Given the description of an element on the screen output the (x, y) to click on. 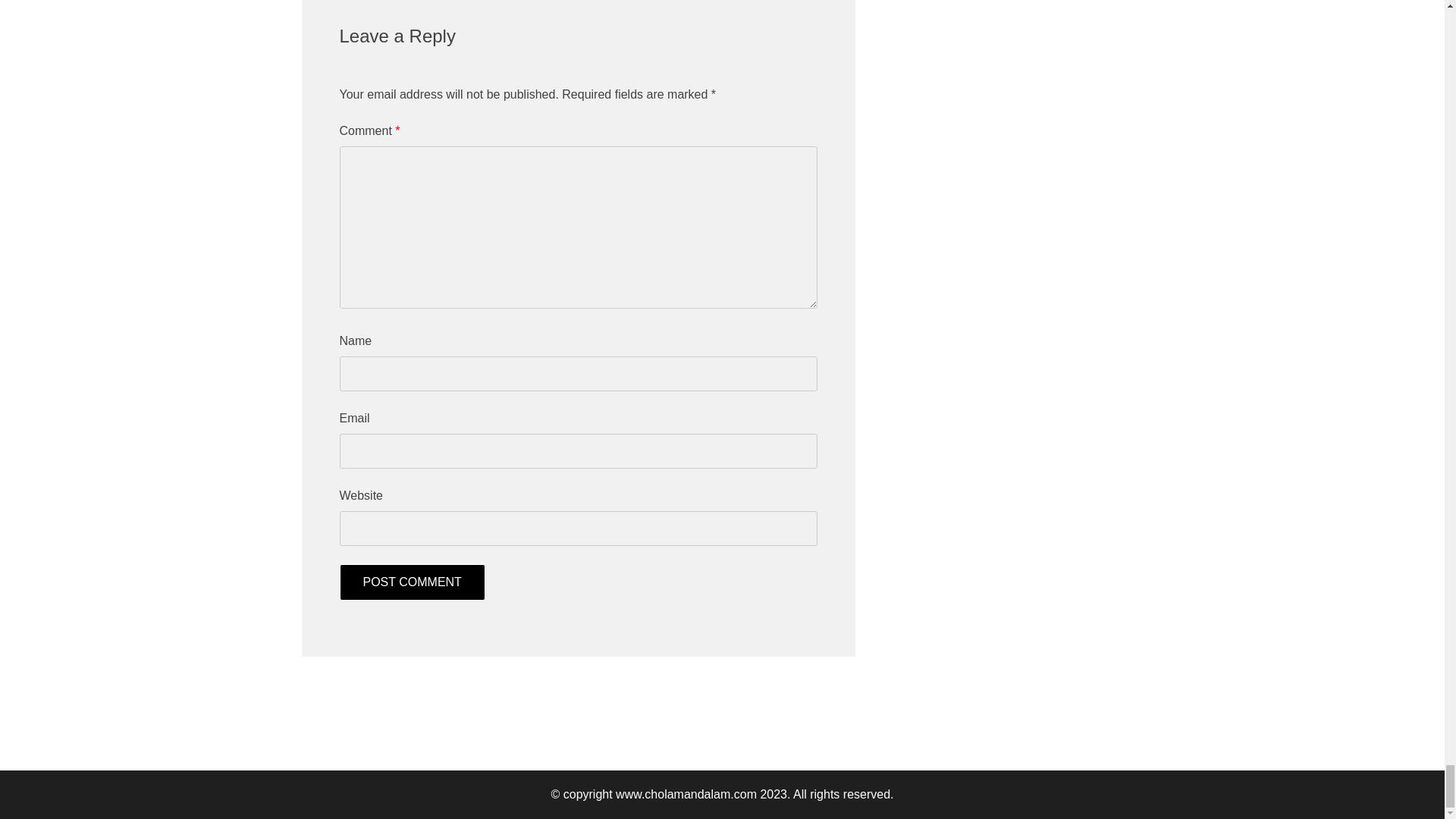
Post Comment (411, 582)
